Given the description of an element on the screen output the (x, y) to click on. 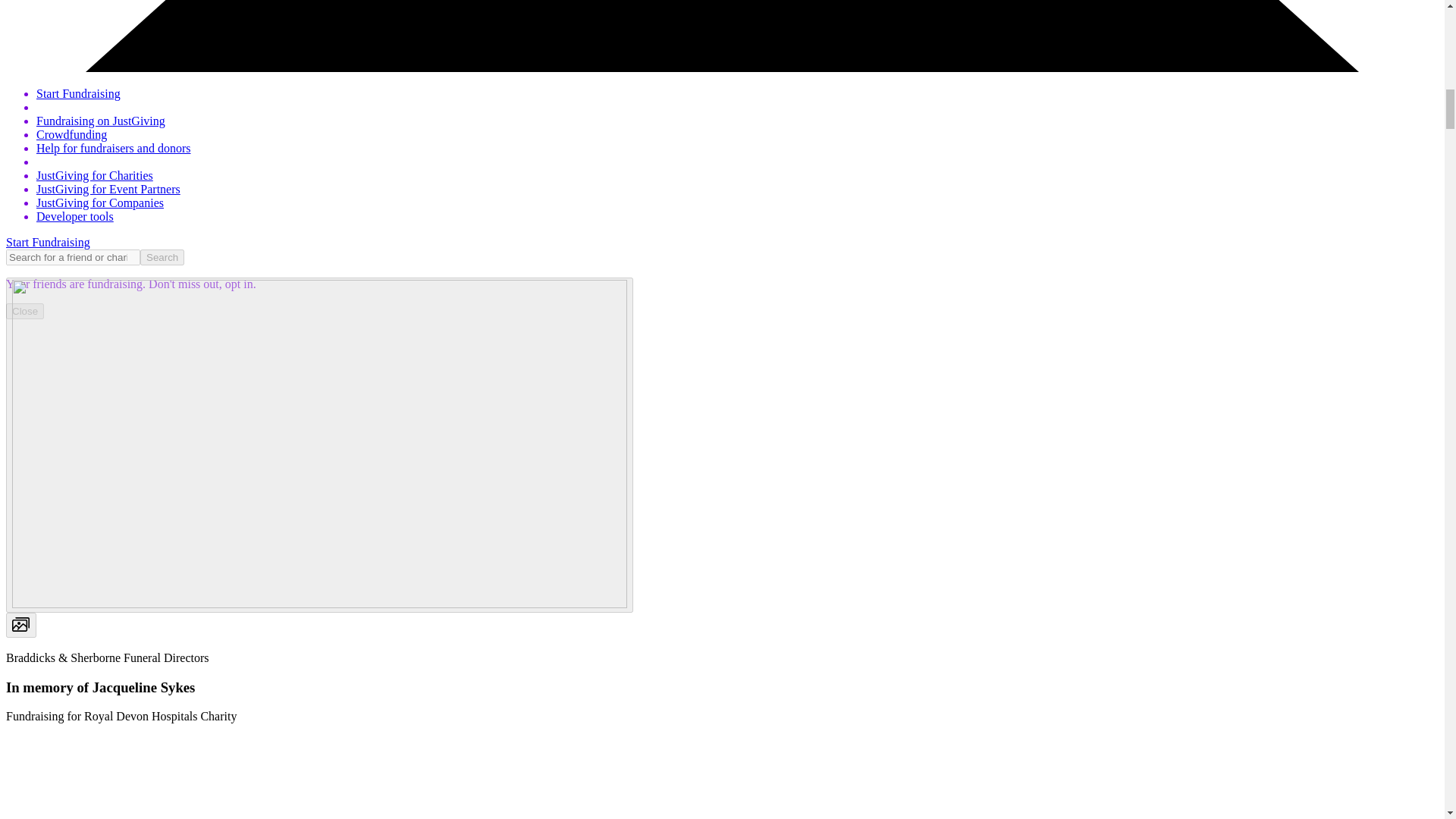
Search (161, 257)
Fundraising on JustGiving (100, 120)
Search (161, 257)
Help for fundraisers and donors (113, 147)
Crowdfunding (71, 133)
JustGiving for Companies (99, 202)
JustGiving for Charities (94, 174)
Search (161, 257)
Start Fundraising (47, 241)
JustGiving for Event Partners (108, 188)
Developer tools (74, 215)
opt in. (239, 283)
Close (24, 311)
Start Fundraising (78, 92)
